Given the description of an element on the screen output the (x, y) to click on. 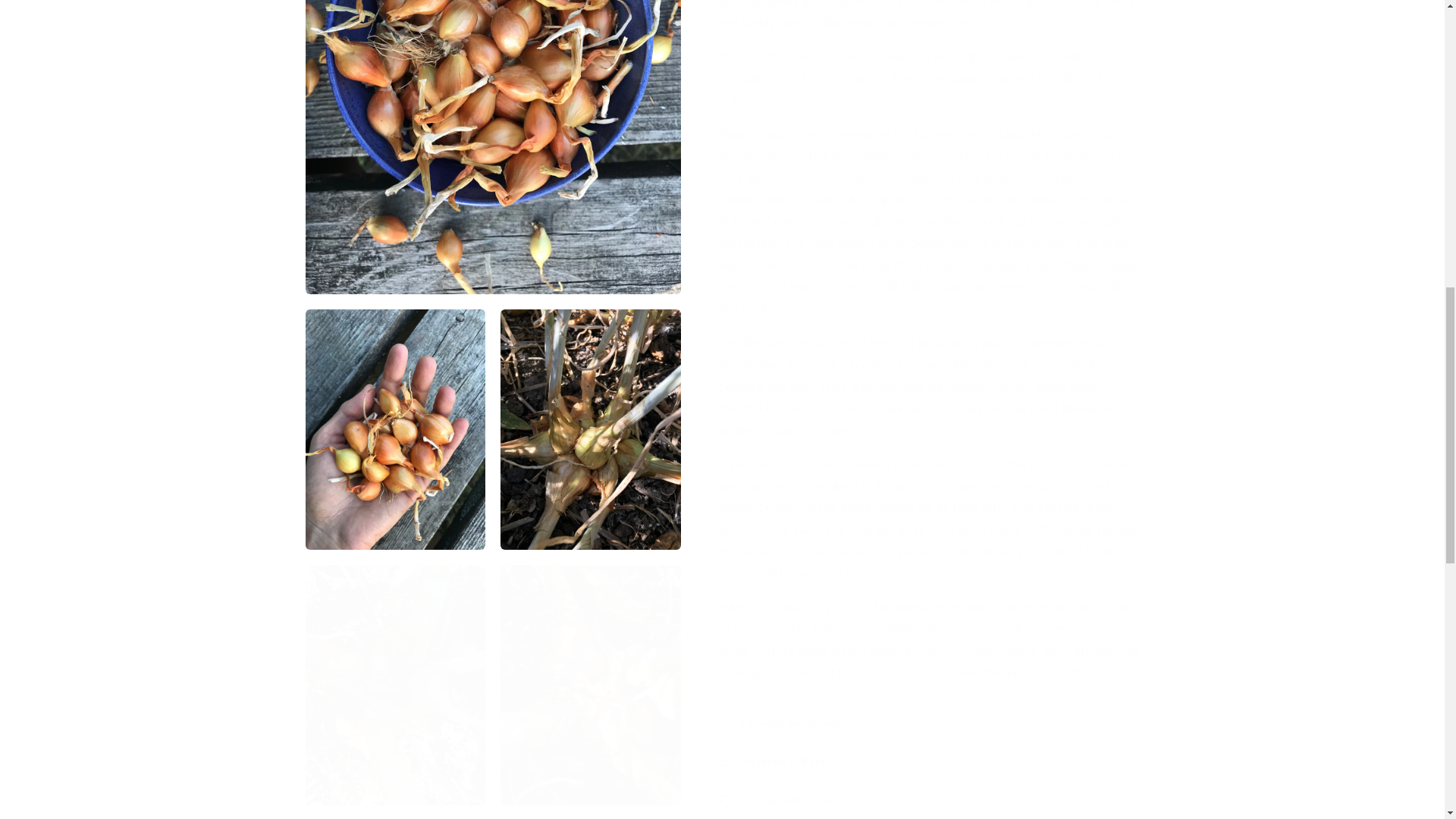
Open media 3 in modal (590, 45)
Open media 2 in modal (394, 45)
